Given the description of an element on the screen output the (x, y) to click on. 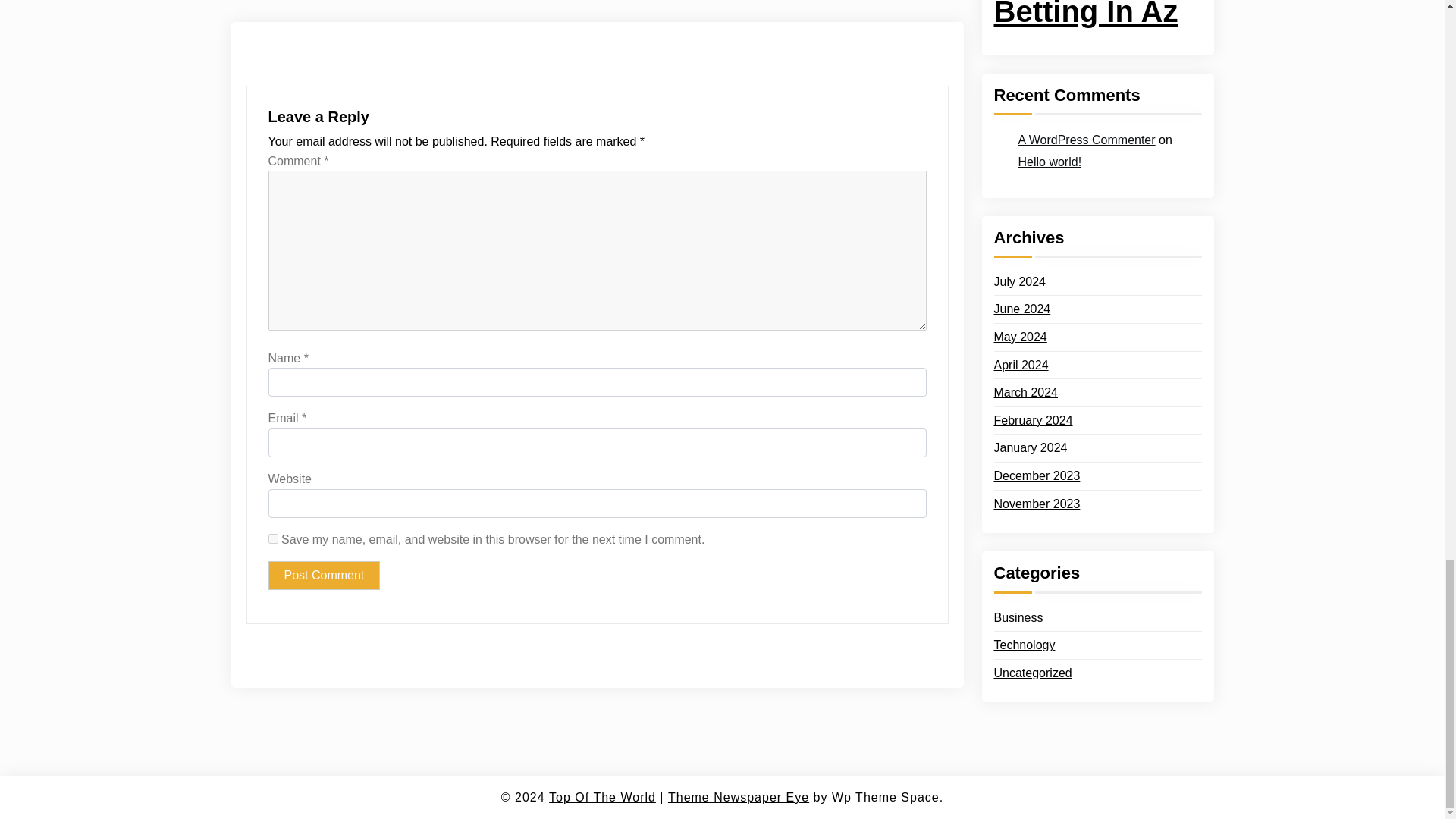
Post Comment (323, 575)
Post Comment (323, 575)
yes (272, 538)
